Given the description of an element on the screen output the (x, y) to click on. 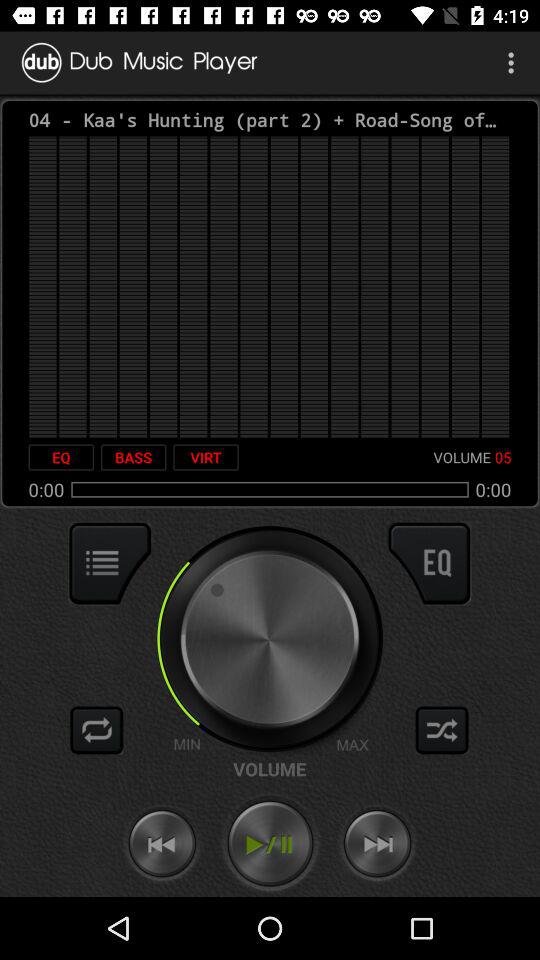
tap the icon above the 0:02 (61, 457)
